Given the description of an element on the screen output the (x, y) to click on. 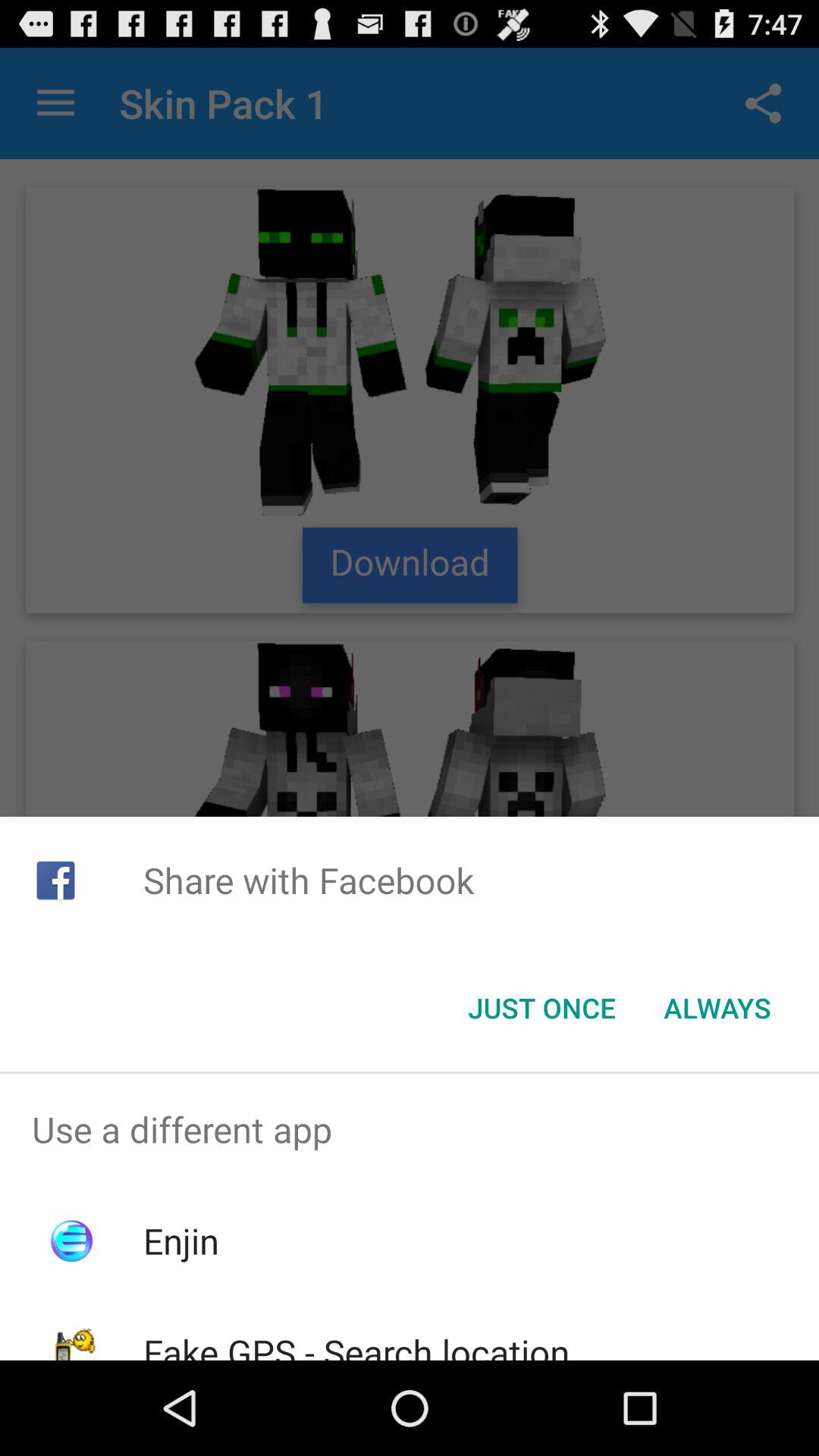
click use a different item (409, 1129)
